Given the description of an element on the screen output the (x, y) to click on. 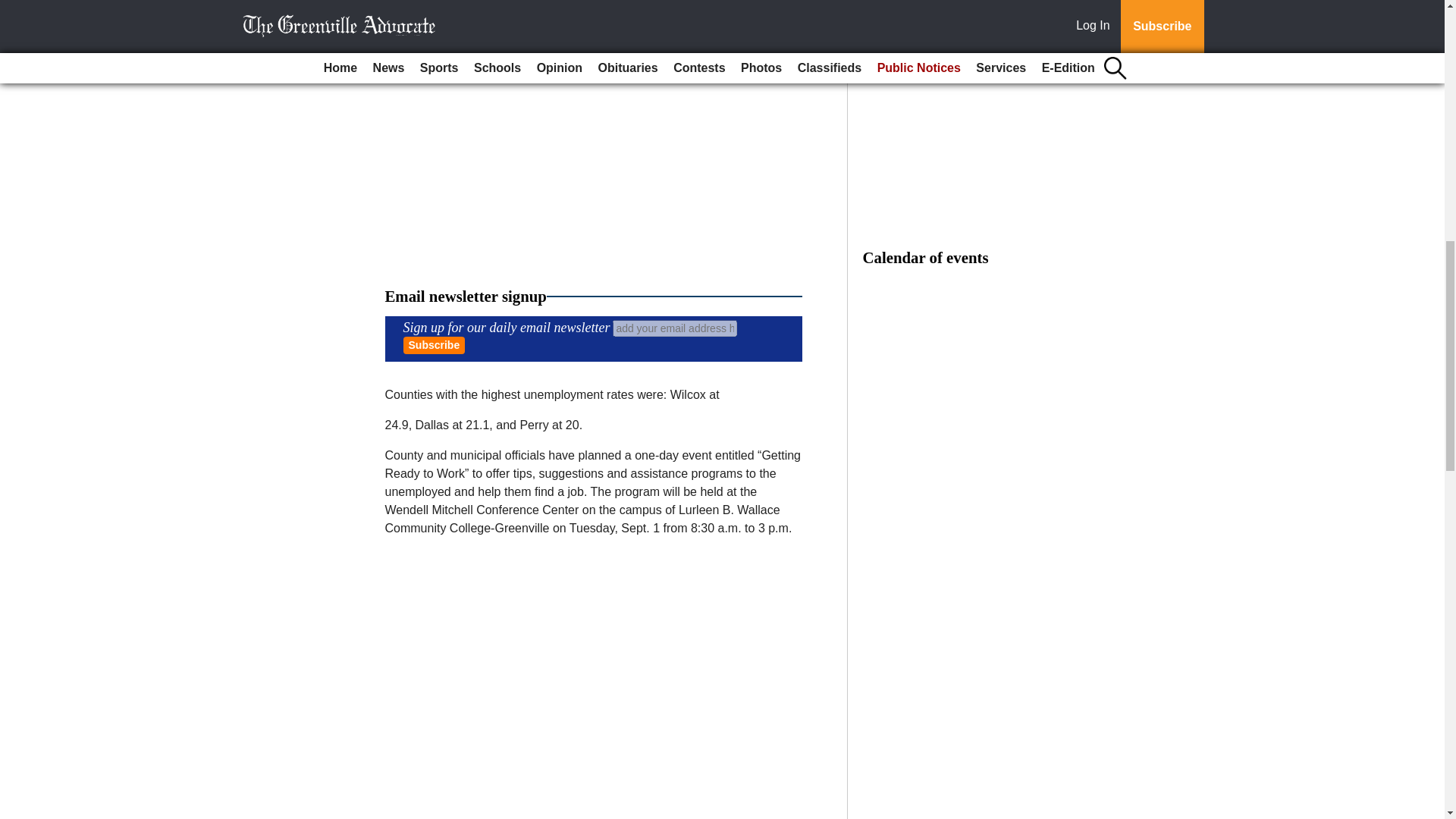
Subscribe (434, 344)
Subscribe (434, 344)
